Given the description of an element on the screen output the (x, y) to click on. 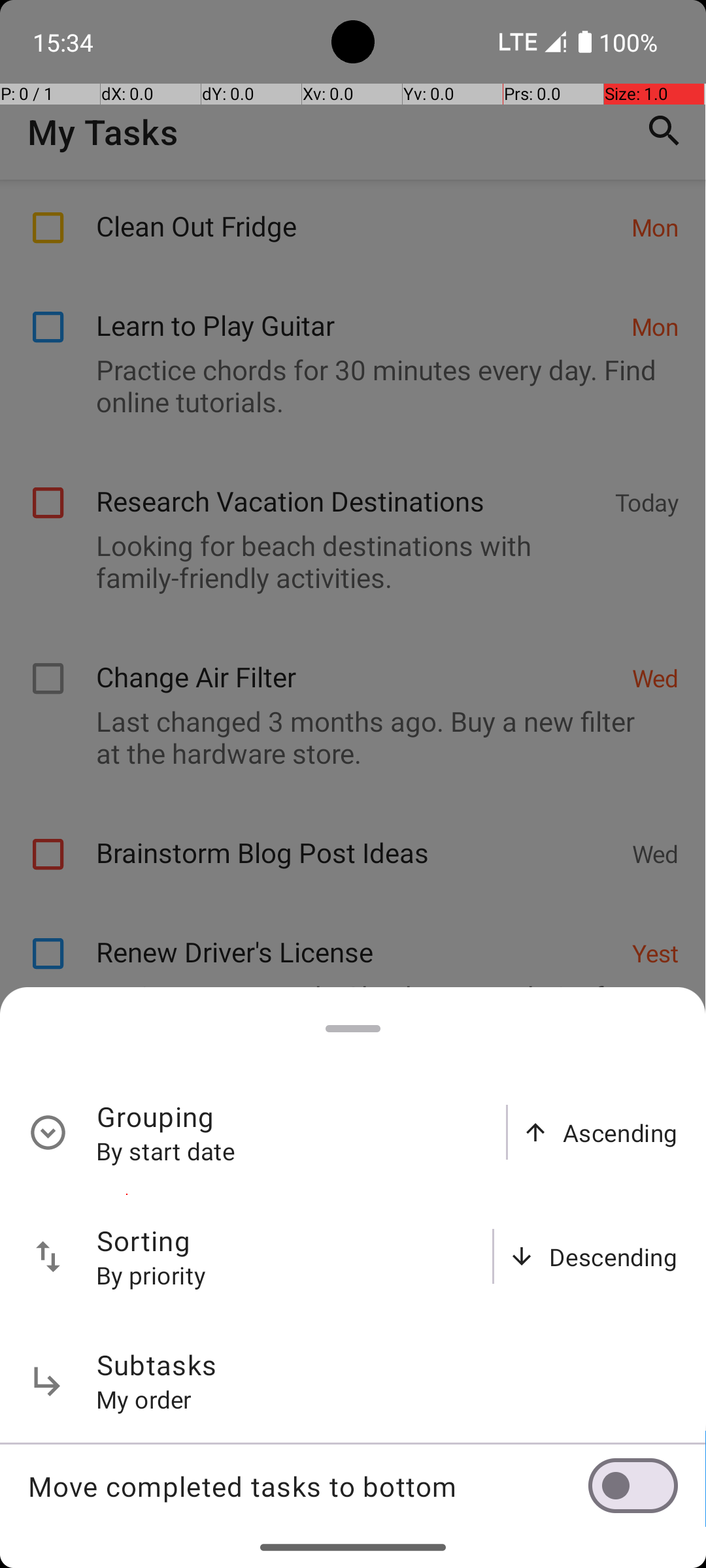
Grouping Element type: android.widget.TextView (155, 1115)
By start date Element type: android.widget.TextView (165, 1150)
Sorting Element type: android.widget.TextView (143, 1239)
By priority Element type: android.widget.TextView (151, 1274)
My order Element type: android.widget.TextView (144, 1399)
Move completed tasks to bottom Element type: android.widget.TextView (307, 1485)
Ascending Element type: android.widget.TextView (619, 1132)
